Given the description of an element on the screen output the (x, y) to click on. 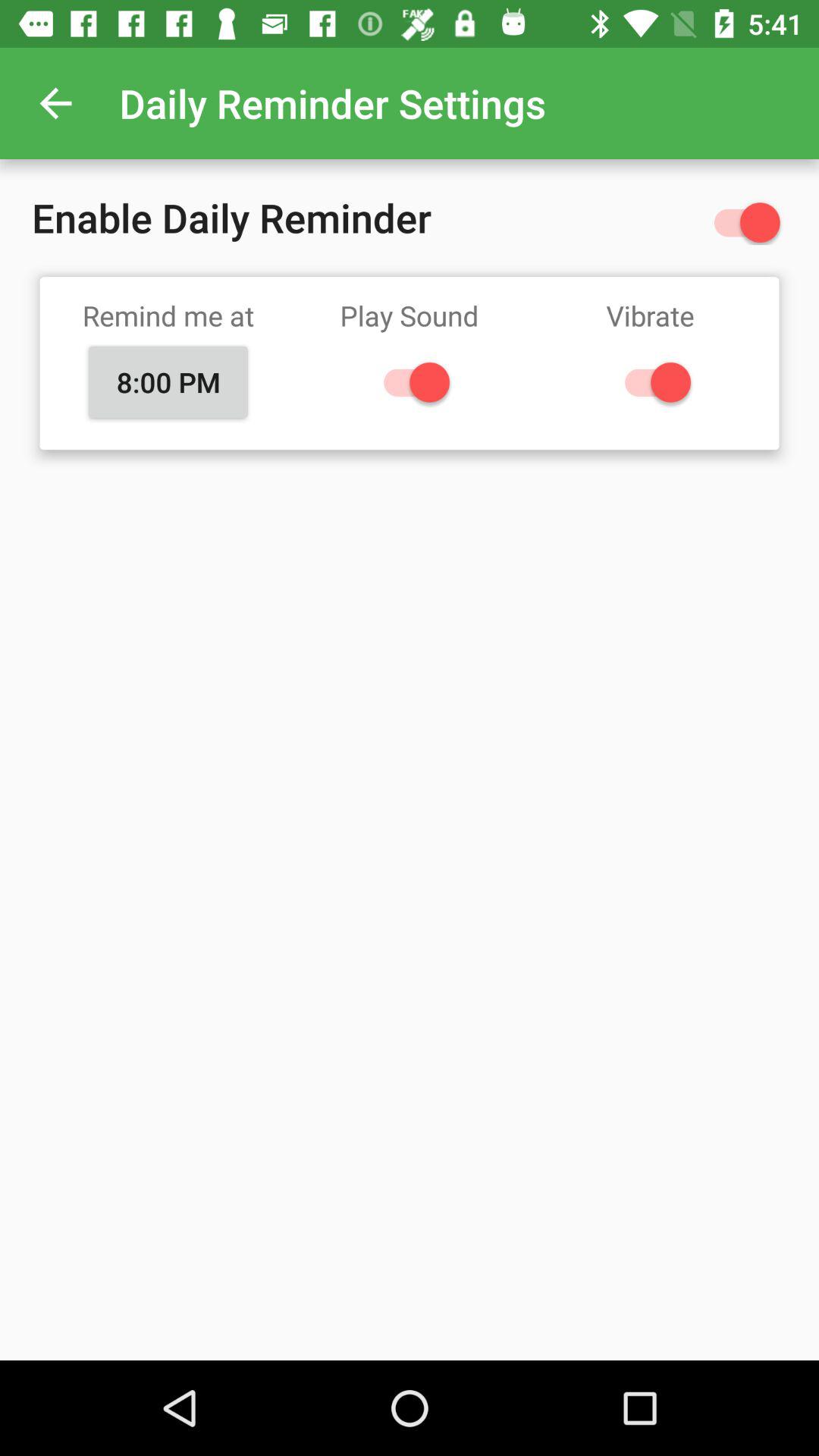
press item next to daily reminder settings item (55, 103)
